Given the description of an element on the screen output the (x, y) to click on. 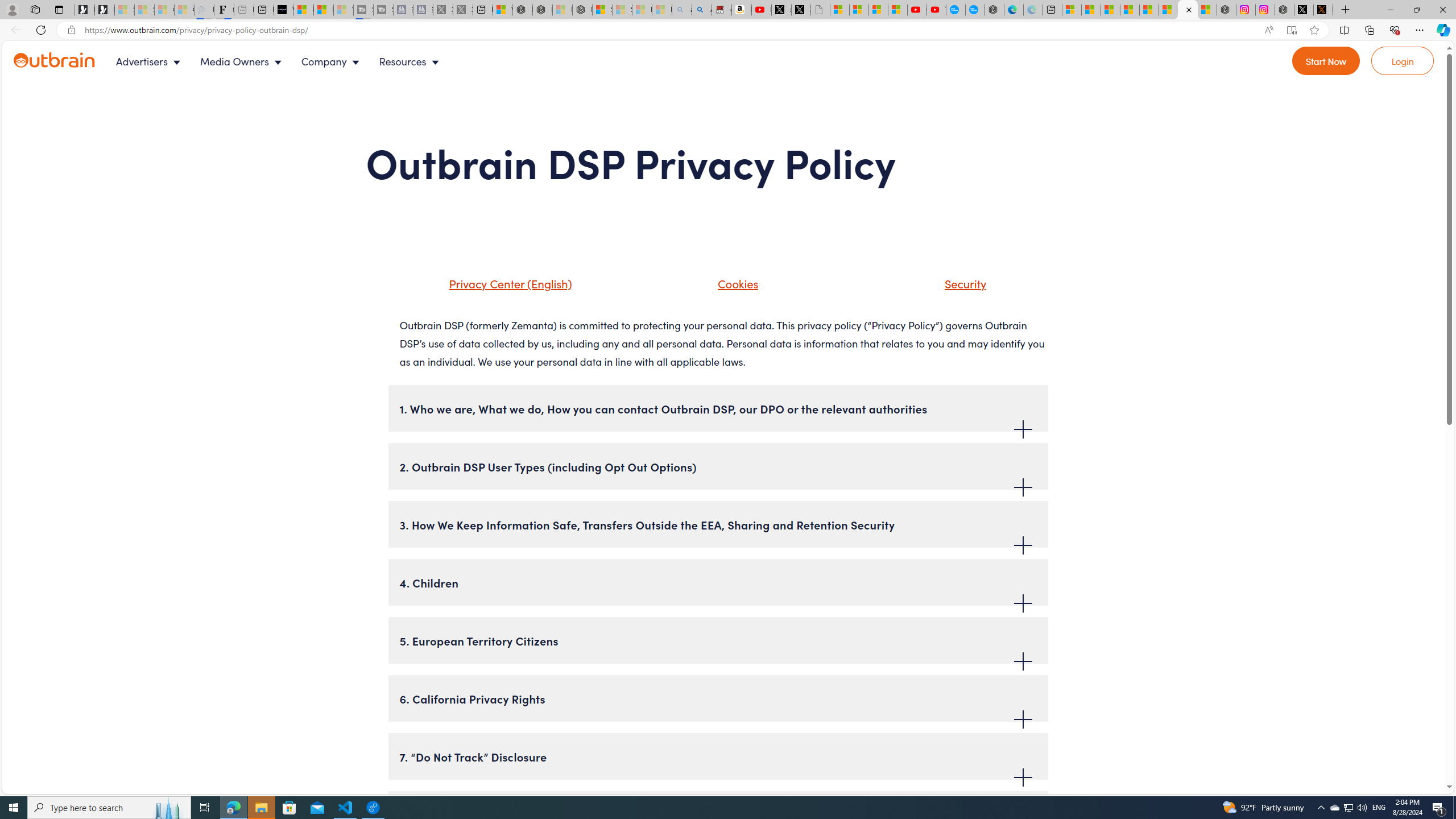
Media Owners (242, 61)
Skip navigation to go to main content (34, 46)
Cookies (734, 282)
